Given the description of an element on the screen output the (x, y) to click on. 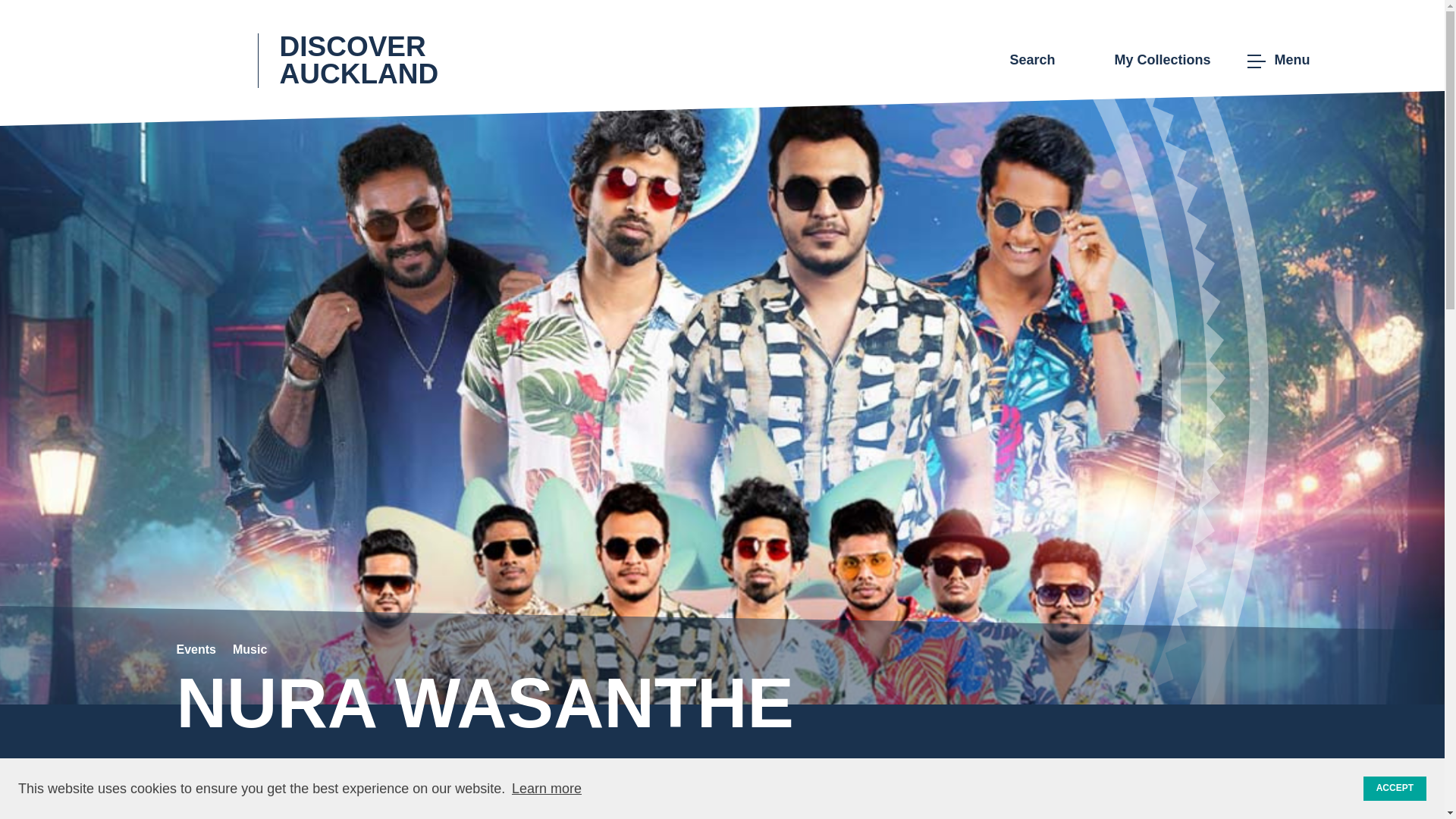
ACCEPT (1394, 788)
DISCOVER AUCKLAND (330, 60)
My Collections (1149, 60)
Events (195, 649)
Music (249, 649)
Menu (1275, 60)
Search (1020, 60)
Learn more (545, 788)
